Given the description of an element on the screen output the (x, y) to click on. 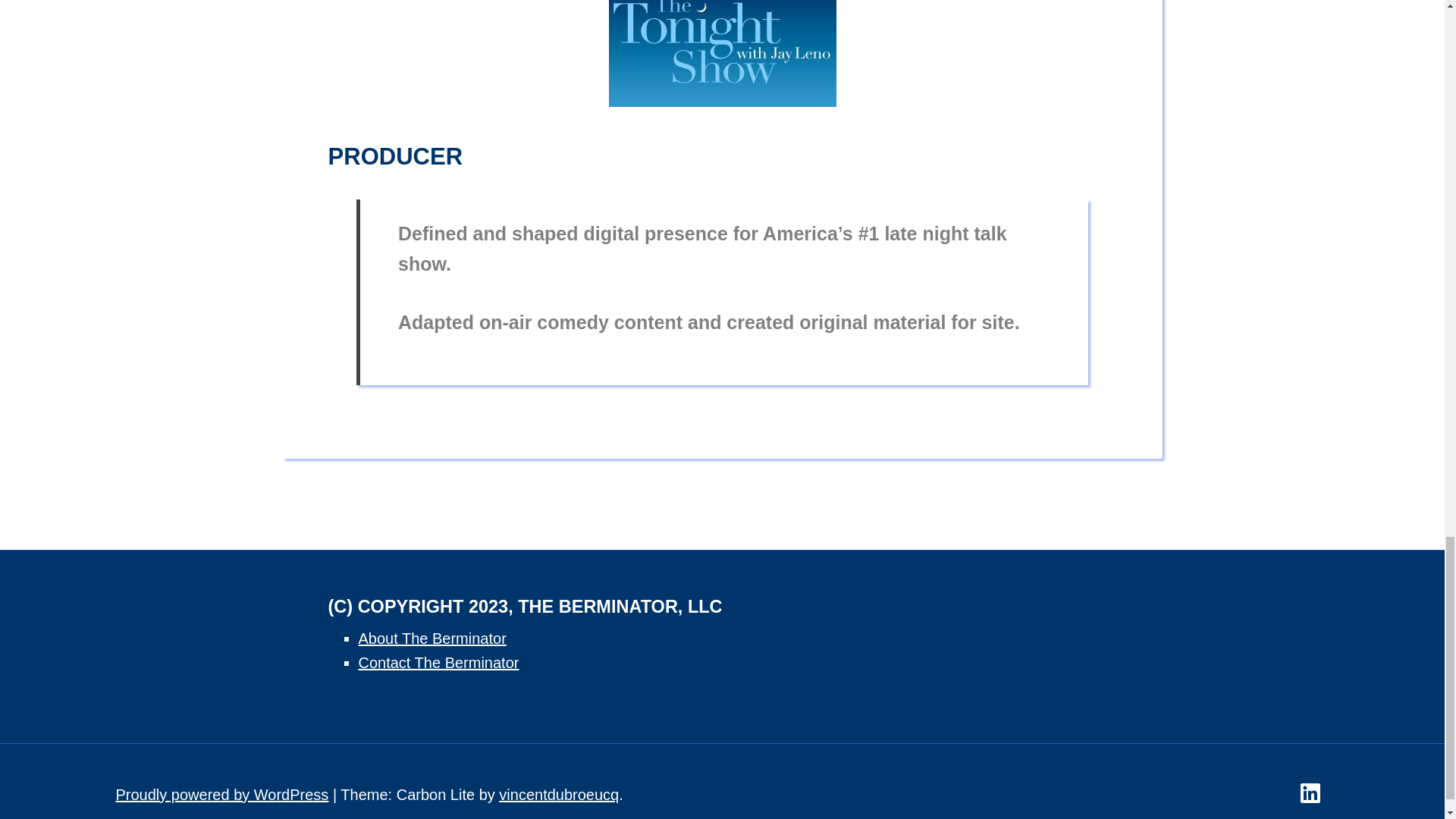
About The Berminator (431, 638)
Proudly powered by WordPress (222, 794)
Contact The Berminator (438, 662)
vincentdubroeucq (558, 794)
